Given the description of an element on the screen output the (x, y) to click on. 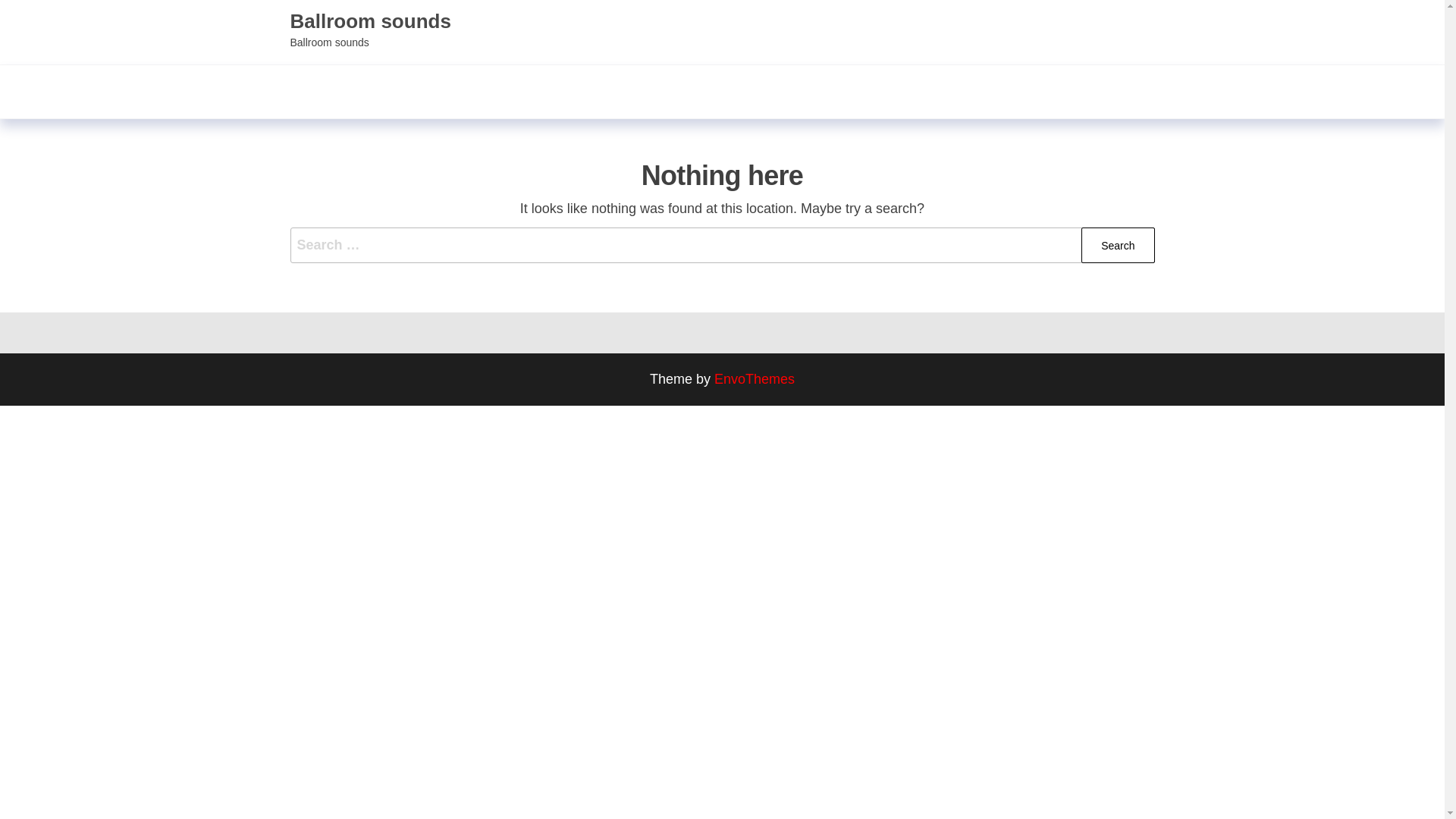
EnvoThemes (754, 378)
Search (1117, 244)
Search (1117, 244)
Ballroom sounds (369, 20)
Search (1117, 244)
